Given the description of an element on the screen output the (x, y) to click on. 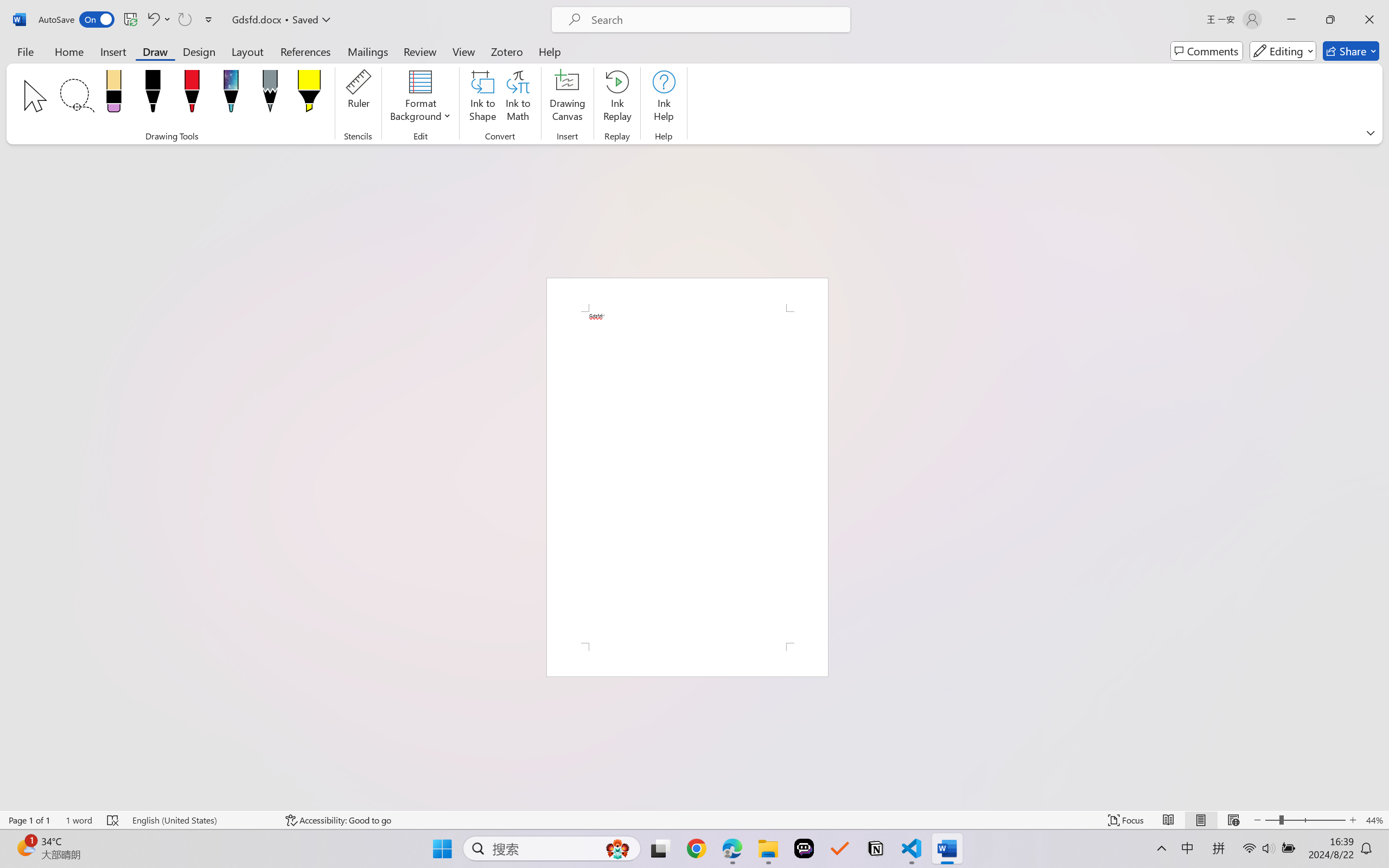
Undo Apply Quick Style (158, 19)
Format Background (420, 97)
Zoom 44% (1374, 819)
Pen: Red, 0.5 mm (191, 94)
